Given the description of an element on the screen output the (x, y) to click on. 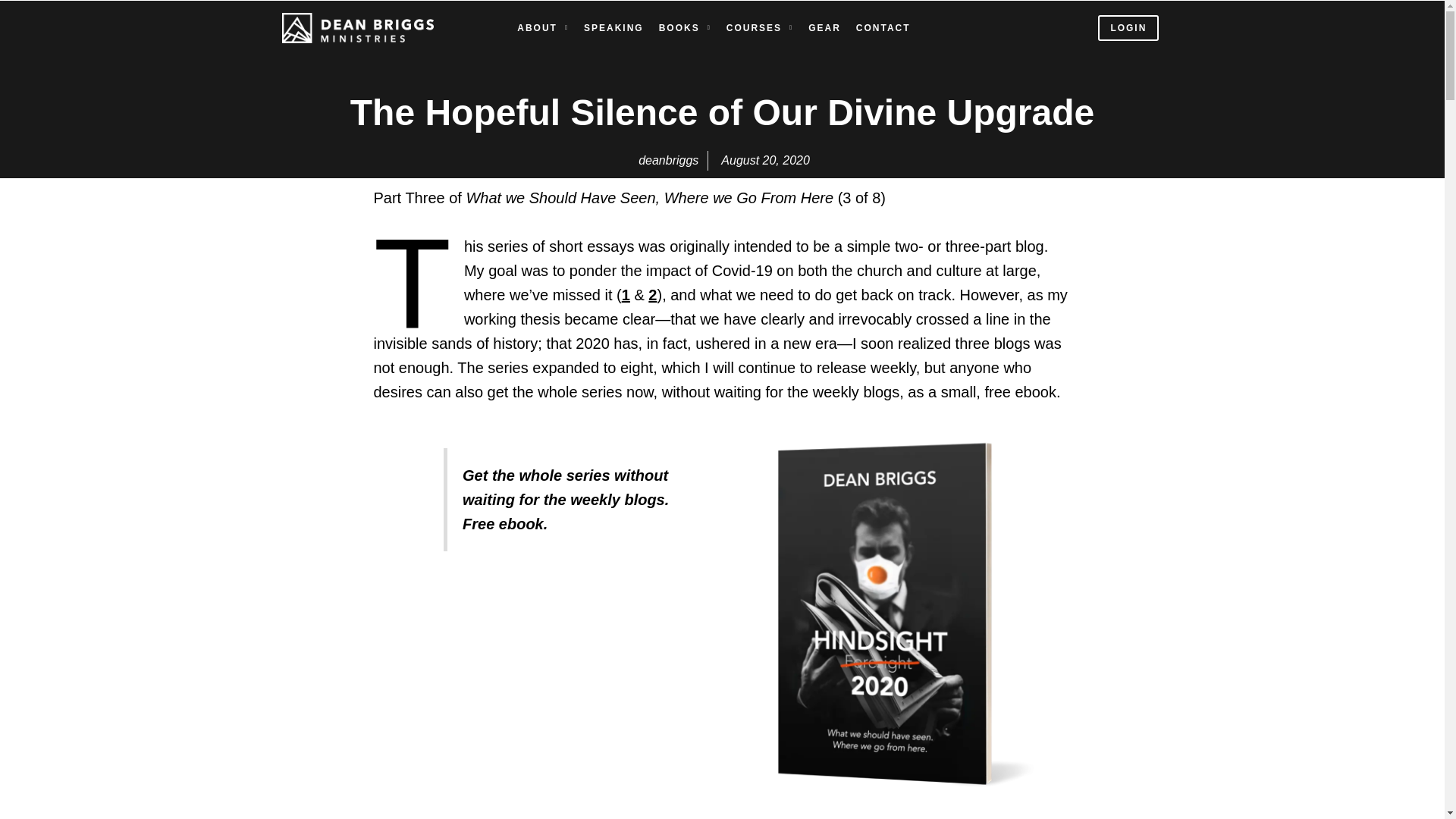
ABOUT (542, 27)
COURSES (759, 27)
August 20, 2020 (763, 160)
GEAR (824, 27)
BOOKS (685, 27)
SPEAKING (613, 27)
CONTACT (883, 27)
LOGIN (1127, 27)
deanbriggs (666, 160)
